Given the description of an element on the screen output the (x, y) to click on. 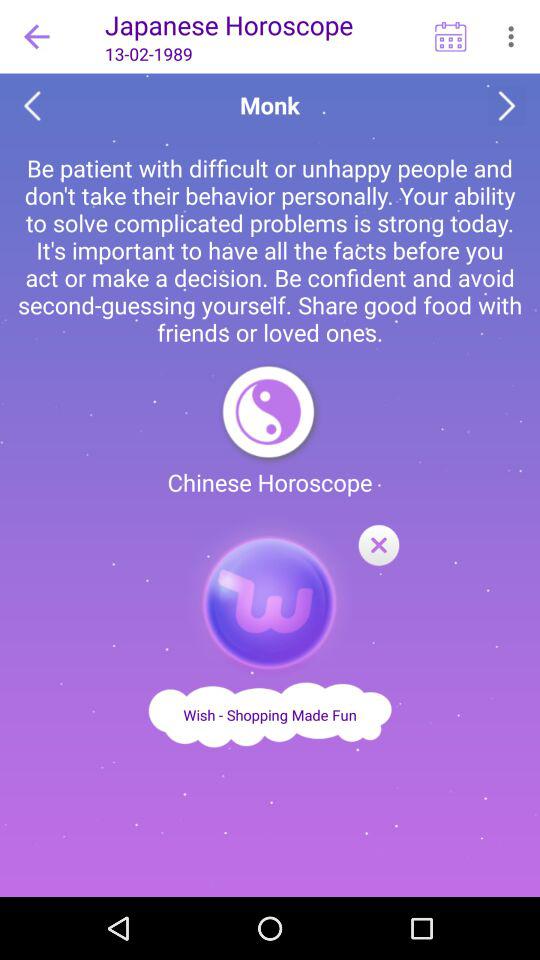
go to next (506, 106)
